Given the description of an element on the screen output the (x, y) to click on. 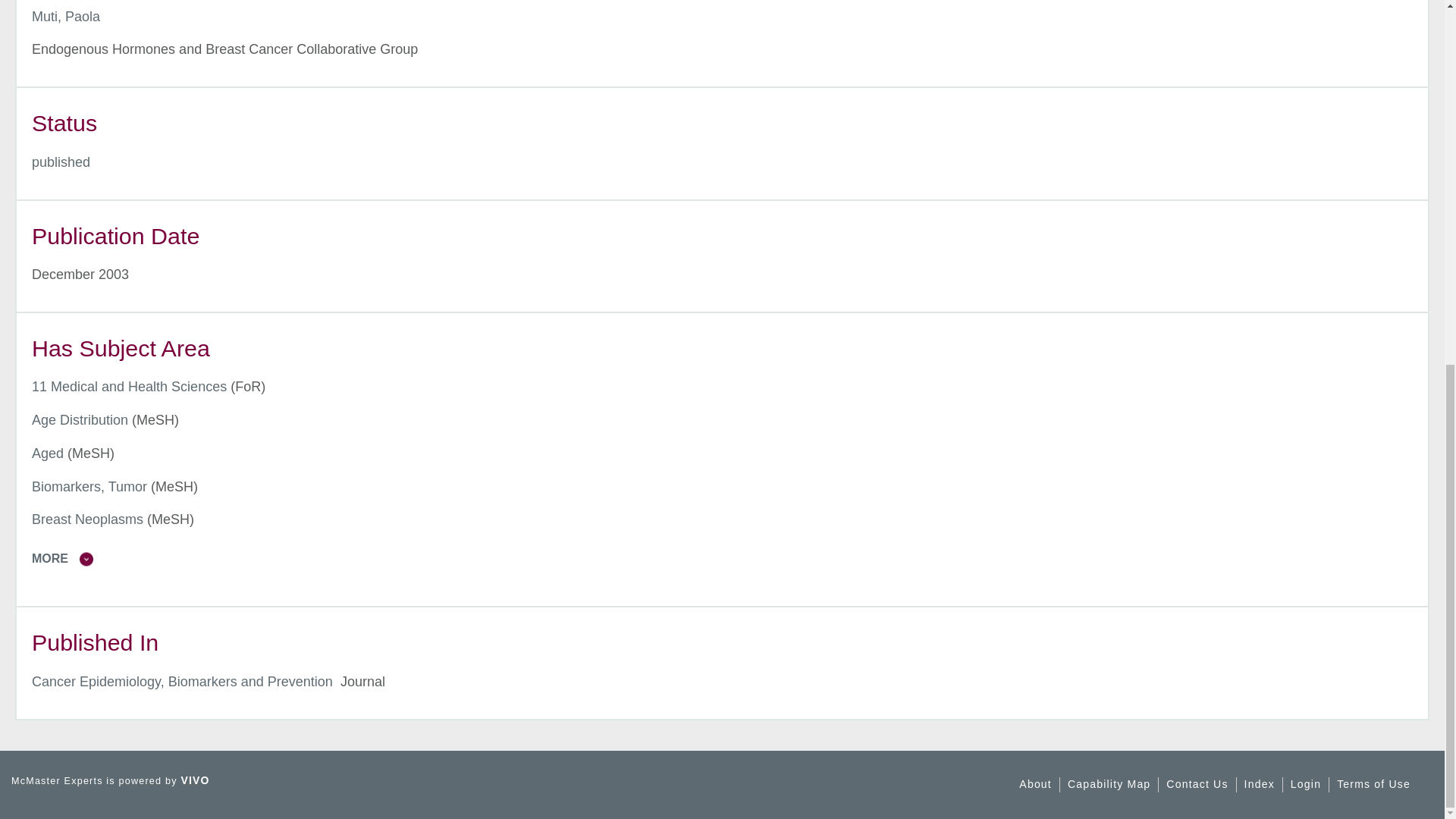
concept name (87, 519)
concept name (48, 453)
concept name (129, 386)
Cancer Epidemiology, Biomarkers and Prevention (182, 681)
Aged (48, 453)
author name (66, 16)
VIVO (194, 779)
concept name (80, 419)
Muti, Paola (66, 16)
Breast Neoplasms (87, 519)
published (61, 161)
name (61, 161)
concept name (89, 486)
MORE (730, 558)
11 Medical and Health Sciences (129, 386)
